Given the description of an element on the screen output the (x, y) to click on. 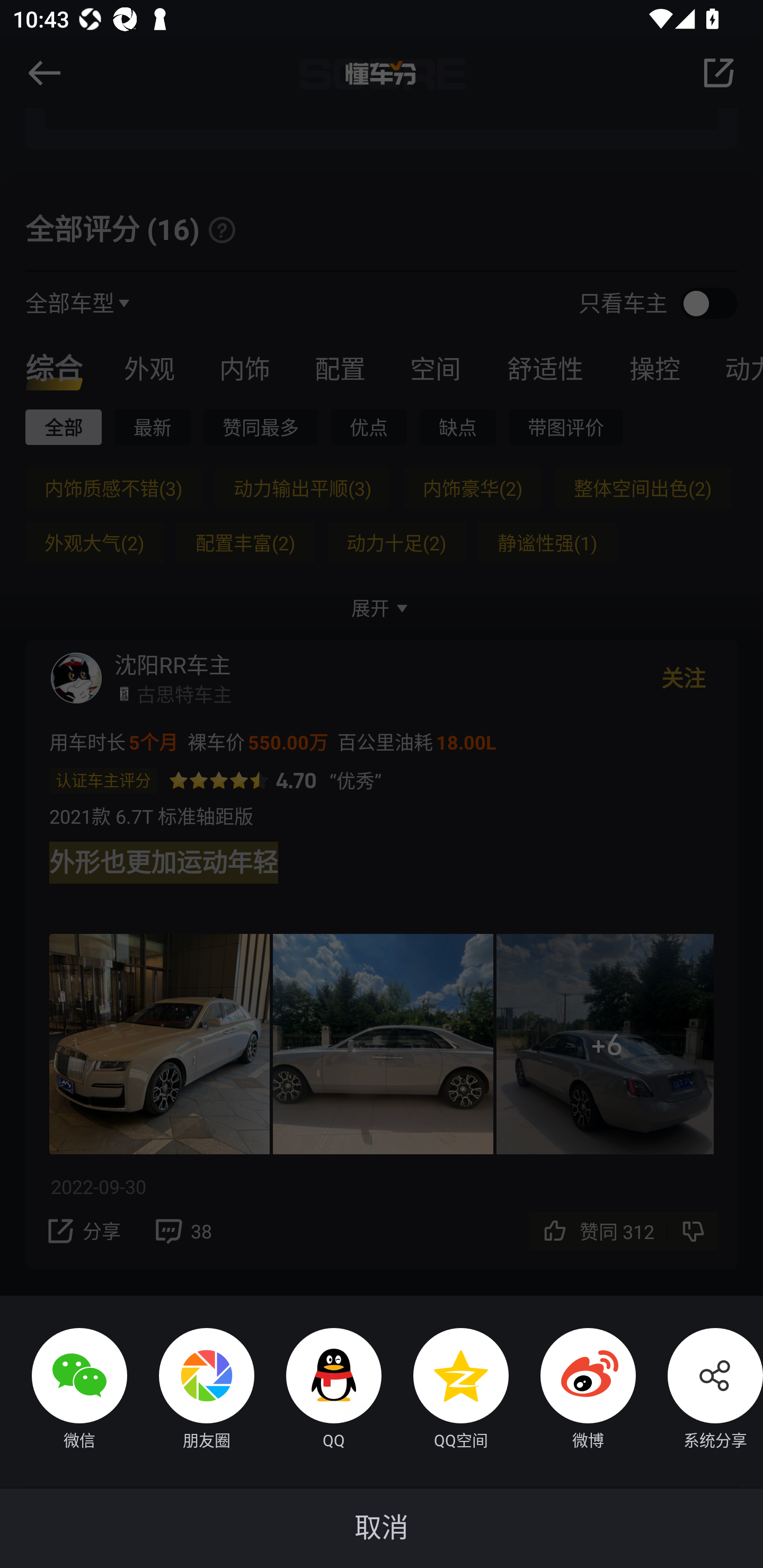
微信 (63, 1390)
朋友圈 (190, 1390)
QQ (317, 1390)
QQ空间 (444, 1390)
微博 (571, 1390)
系统分享 (699, 1390)
取消 (381, 1528)
